Given the description of an element on the screen output the (x, y) to click on. 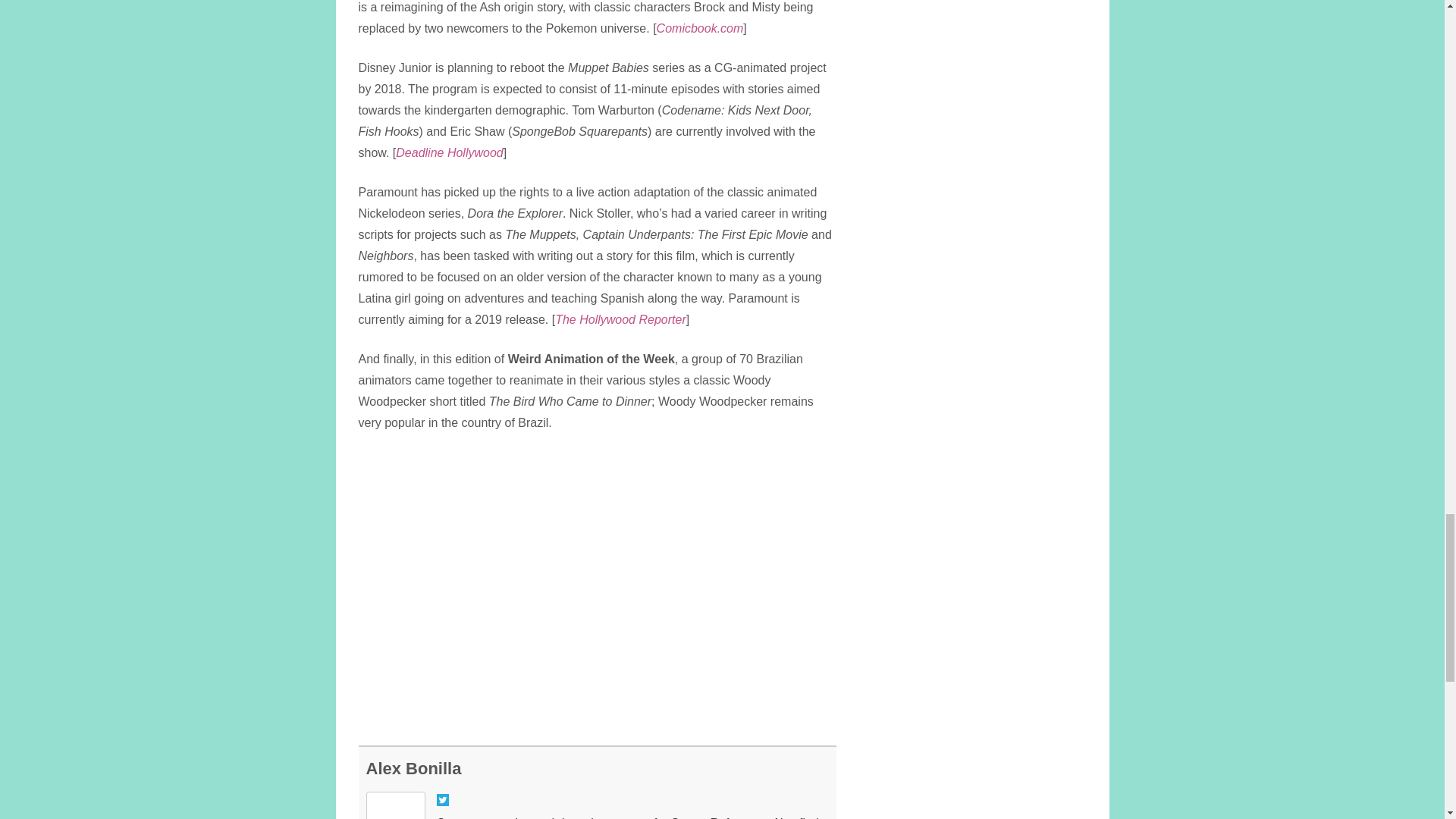
The Hollywood Reporter (619, 318)
Alex Bonilla (413, 768)
Deadline Hollywood (449, 152)
All posts by Alex Bonilla (413, 768)
Comicbook.com (700, 28)
